Given the description of an element on the screen output the (x, y) to click on. 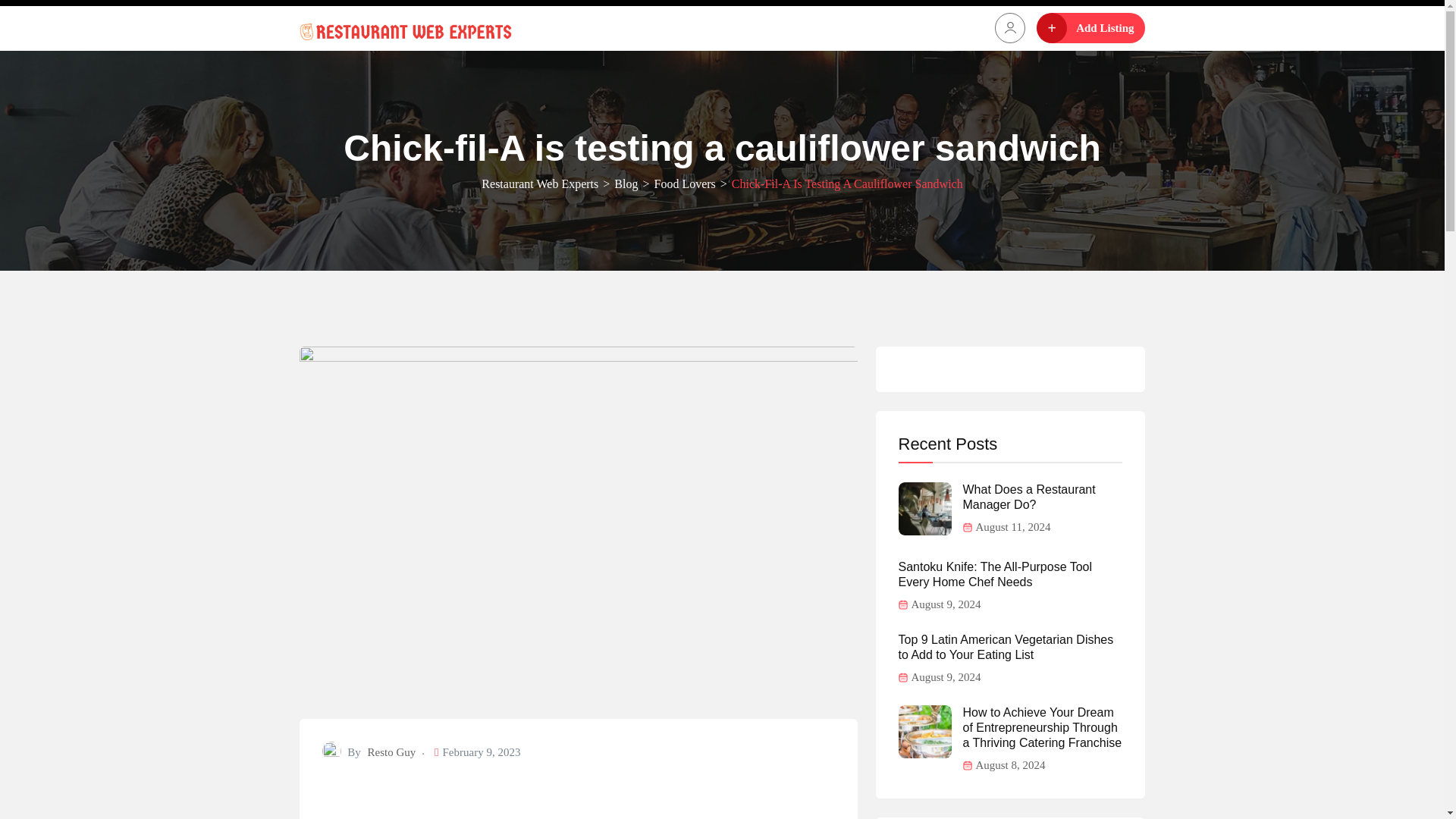
Go to Restaurant Web Experts. (539, 183)
Go to Blog. (625, 183)
What Does a Restaurant Manager Do? (1042, 497)
Add Listing (1090, 28)
Food Lovers (683, 183)
Go to the Food Lovers Category archives. (683, 183)
Blog (625, 183)
Resto Guy (392, 752)
Restaurant Web Experts (539, 183)
